Given the description of an element on the screen output the (x, y) to click on. 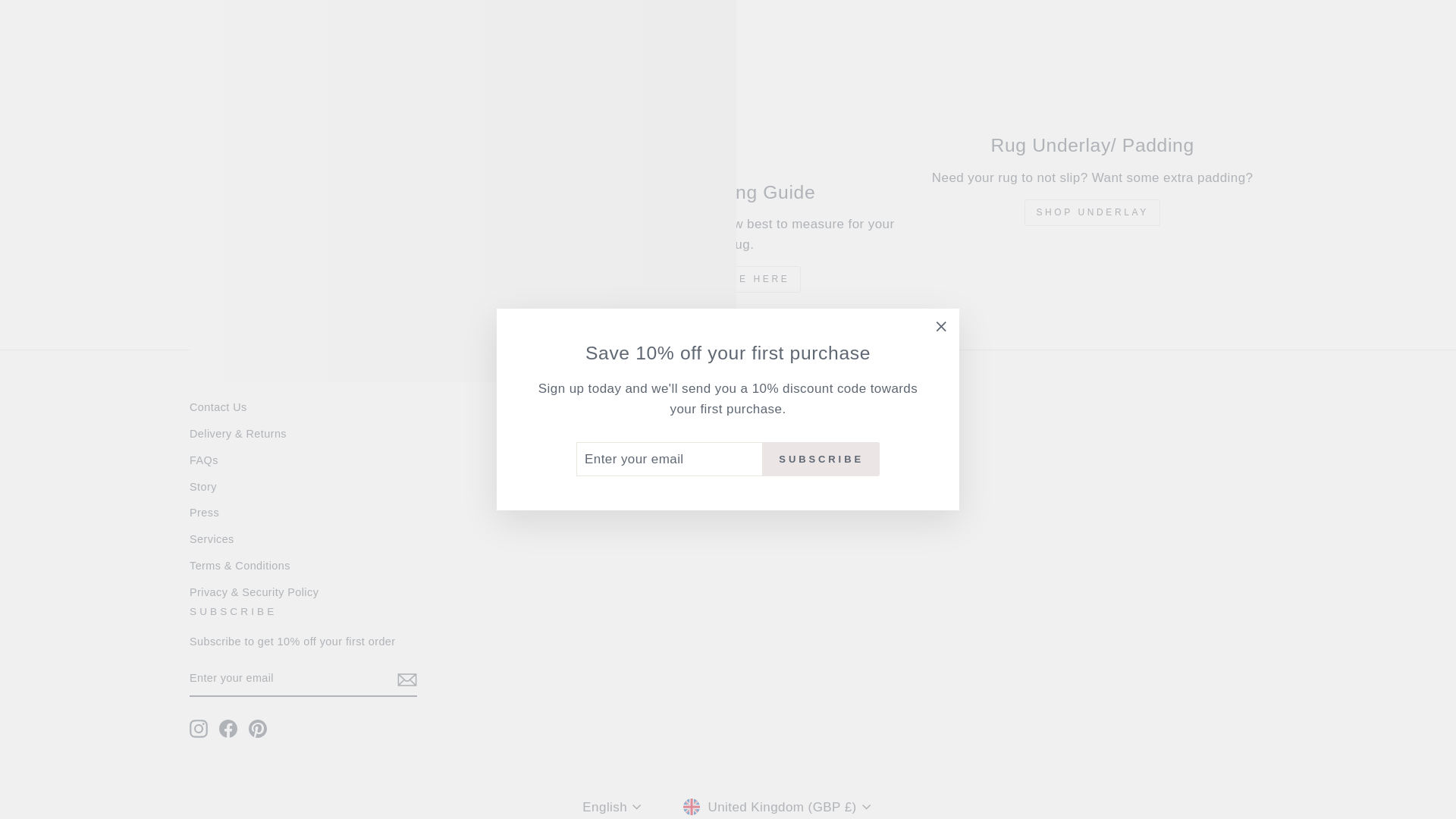
instagram (198, 728)
icon-email (406, 679)
Lilla Rugs  on Instagram (198, 728)
